Given the description of an element on the screen output the (x, y) to click on. 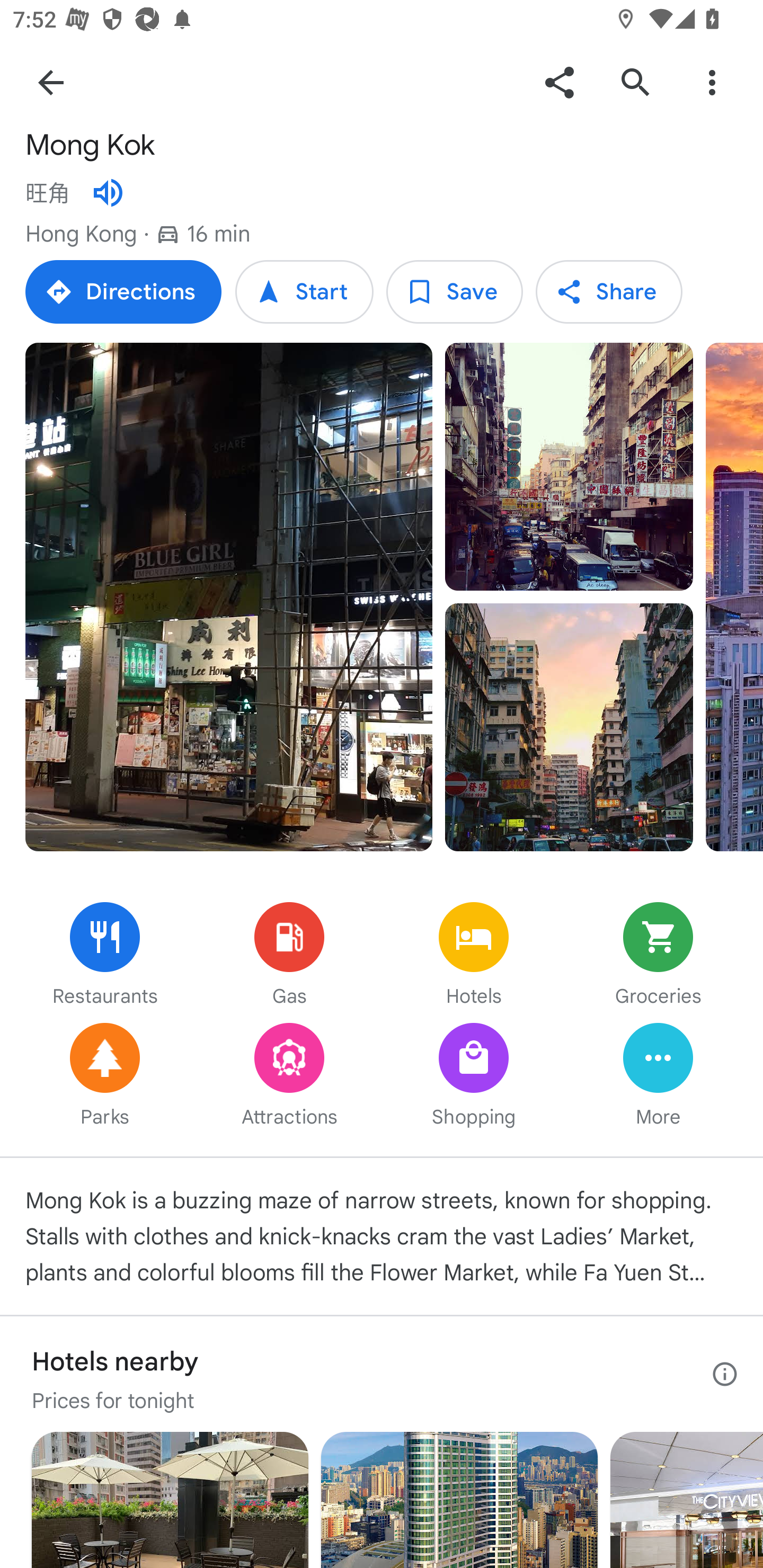
Back to Search (50, 81)
Share (559, 81)
Search (635, 81)
More options for Mong Kok (711, 81)
Play it in Chinese (108, 192)
Start Start Start (304, 291)
Save Mong Kok to lists Save Save Mong Kok to lists (454, 291)
Share Mong Kok Share Share Mong Kok (608, 291)
Photo (228, 597)
Photo (568, 467)
Photo (734, 597)
Photo (568, 727)
Restaurants (104, 955)
Gas (288, 955)
Hotels (473, 955)
Groceries (658, 955)
Parks (104, 1076)
Attractions (288, 1076)
Shopping (473, 1076)
More (658, 1076)
About hotel pricing (724, 1373)
